Given the description of an element on the screen output the (x, y) to click on. 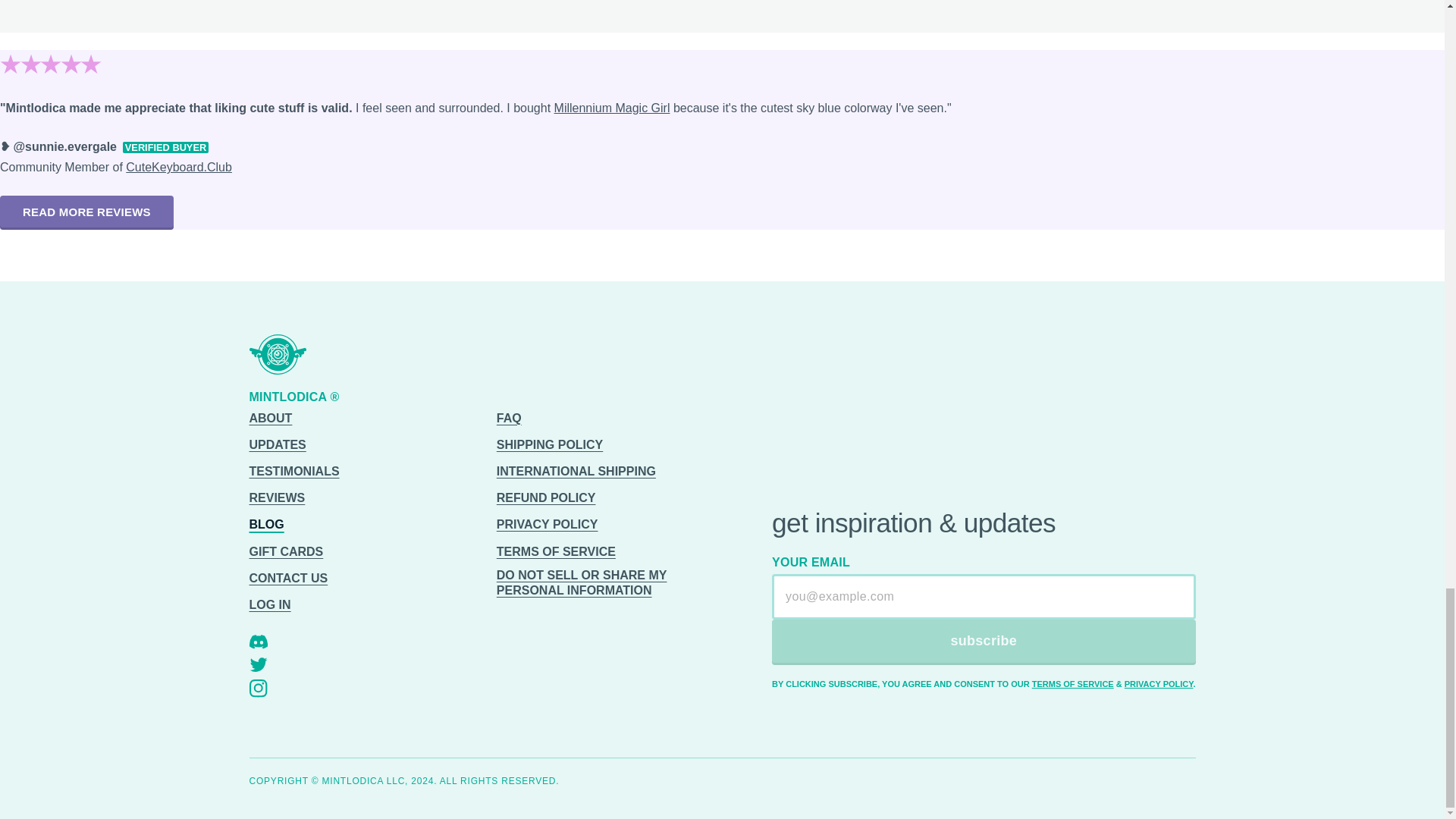
CuteKeyboard.Club (178, 166)
DSA Millennium Magic Girl Keycaps (611, 107)
